Given the description of an element on the screen output the (x, y) to click on. 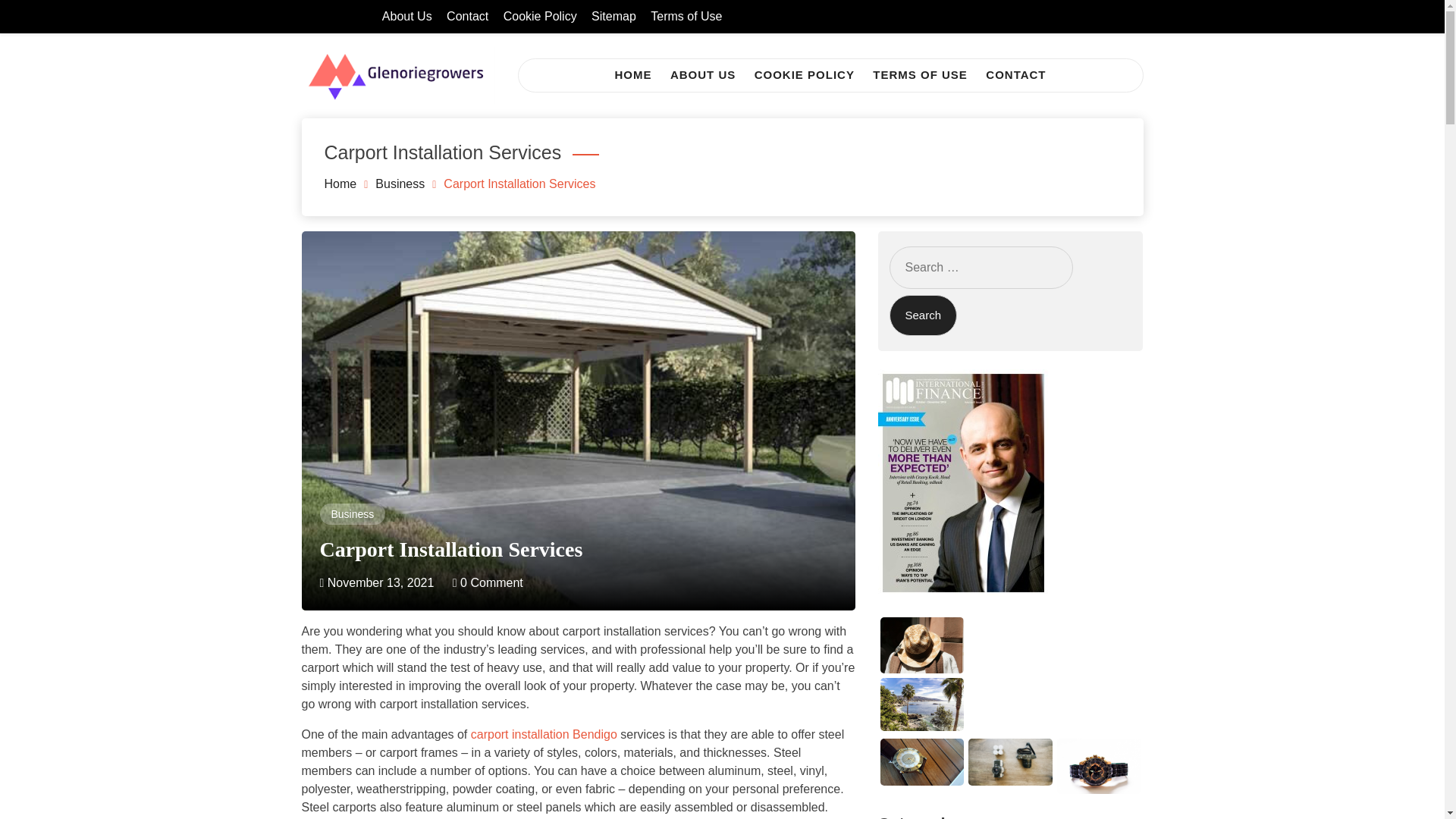
Business (352, 513)
0 Comment (487, 582)
COOKIE POLICY (803, 74)
Terms of Use (686, 15)
Search (922, 315)
Carport Installation Services (451, 549)
Sitemap (613, 15)
Cookie Policy (539, 15)
Contact (466, 15)
TERMS OF USE (919, 74)
